Given the description of an element on the screen output the (x, y) to click on. 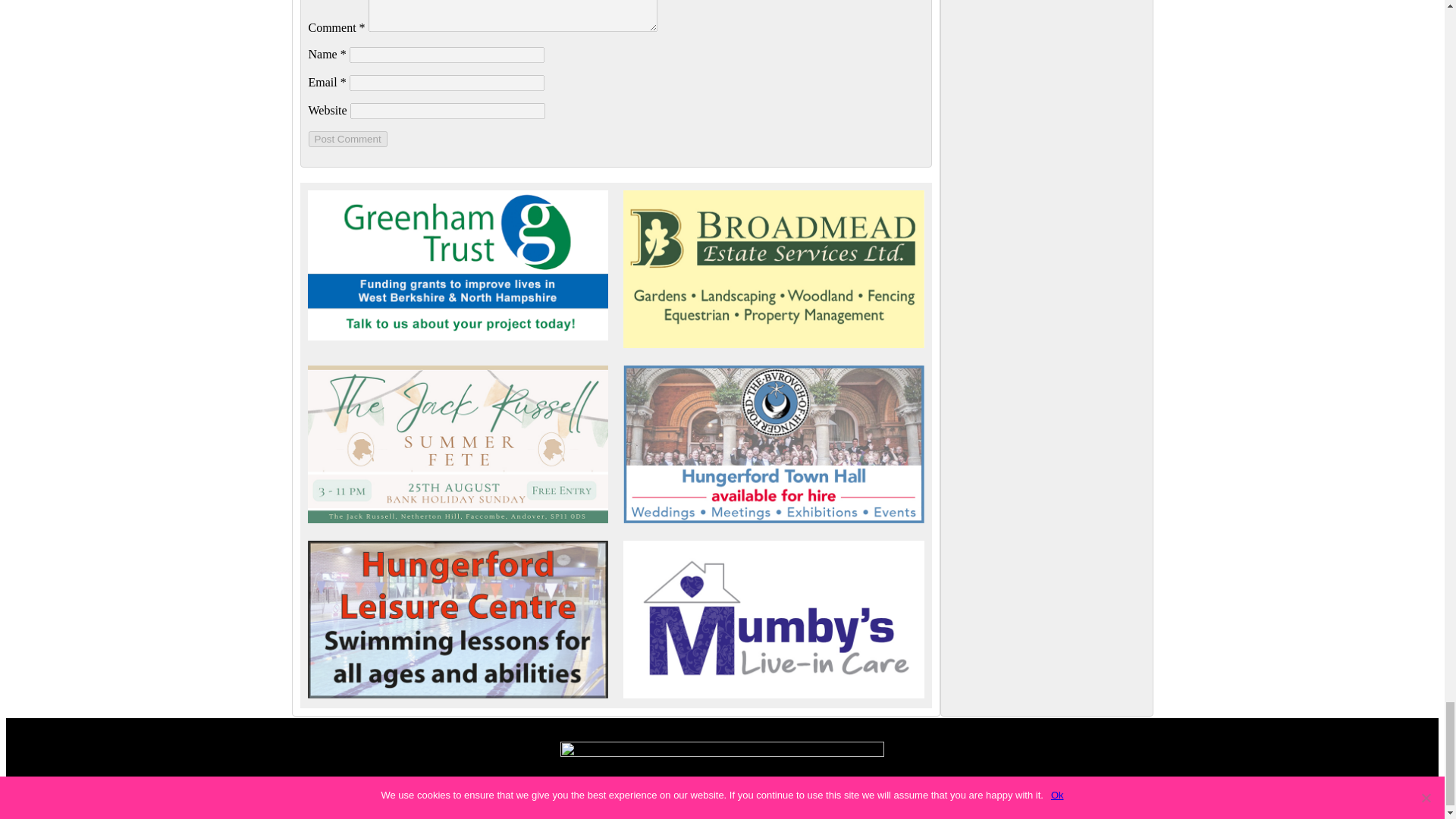
Post Comment (347, 139)
